Given the description of an element on the screen output the (x, y) to click on. 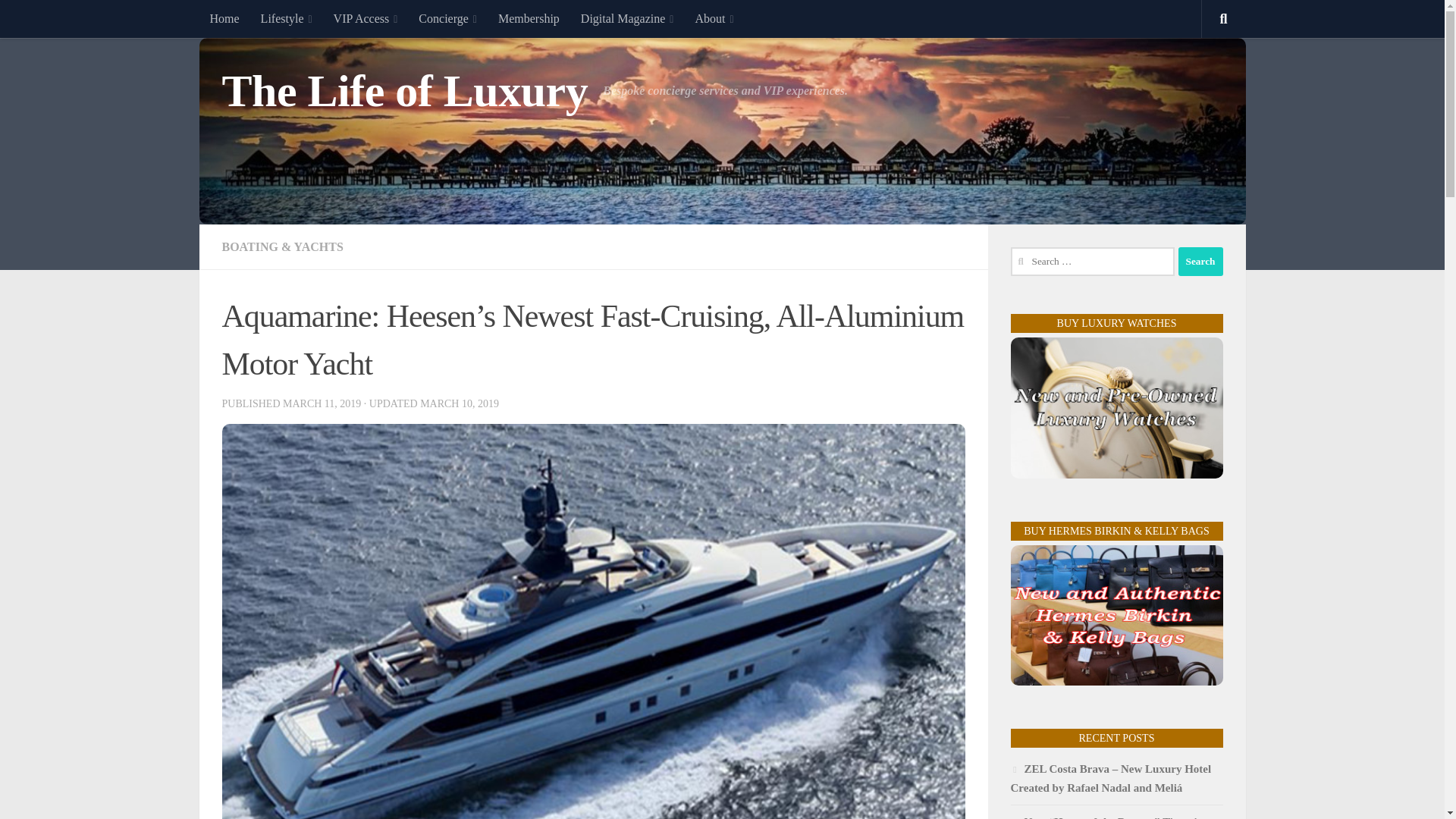
Search (1200, 261)
Skip to content (59, 20)
Search (1200, 261)
